Given the description of an element on the screen output the (x, y) to click on. 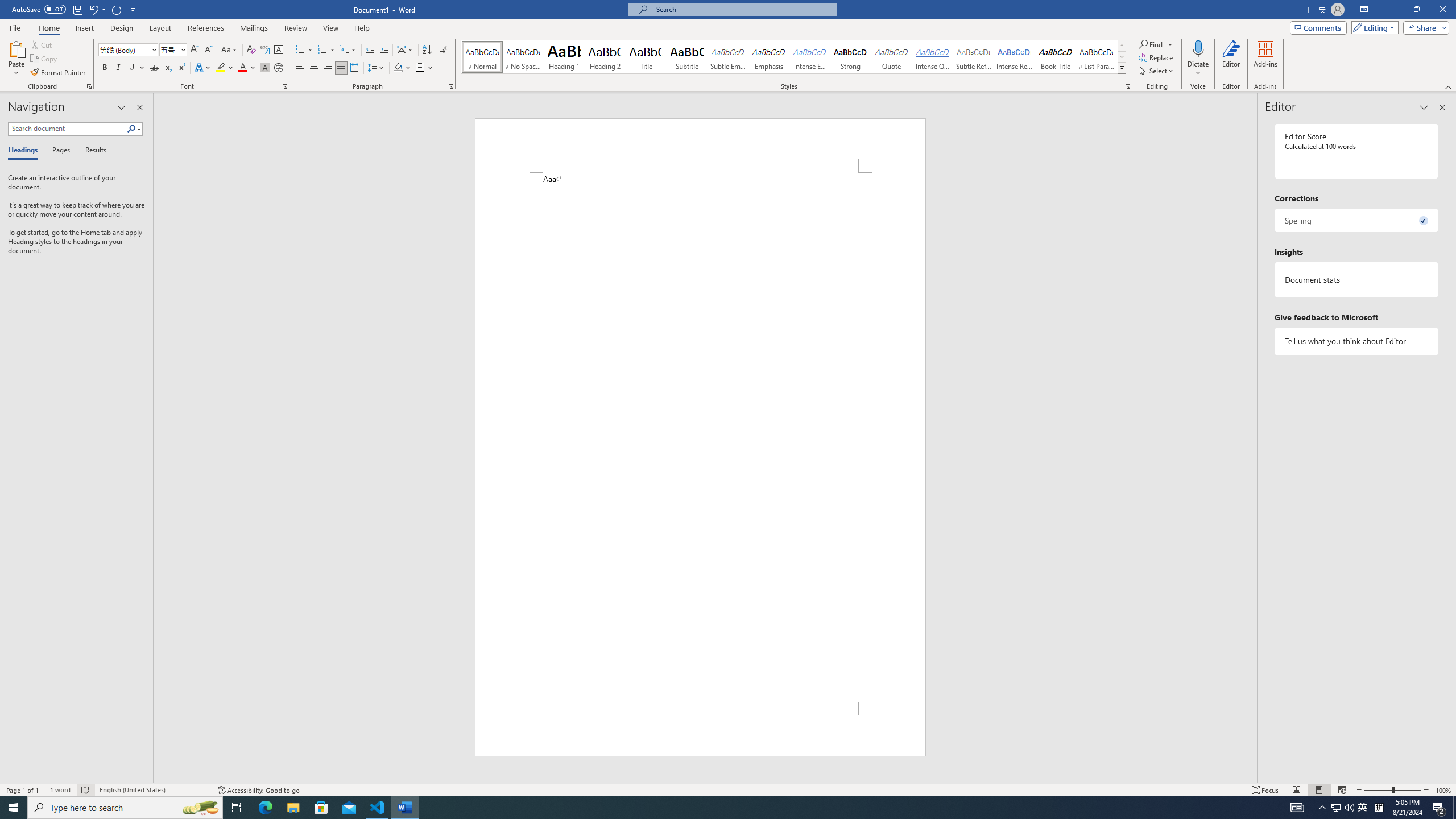
Undo AutoCorrect (92, 9)
Page Number Page 1 of 1 (22, 790)
Strong (849, 56)
